Given the description of an element on the screen output the (x, y) to click on. 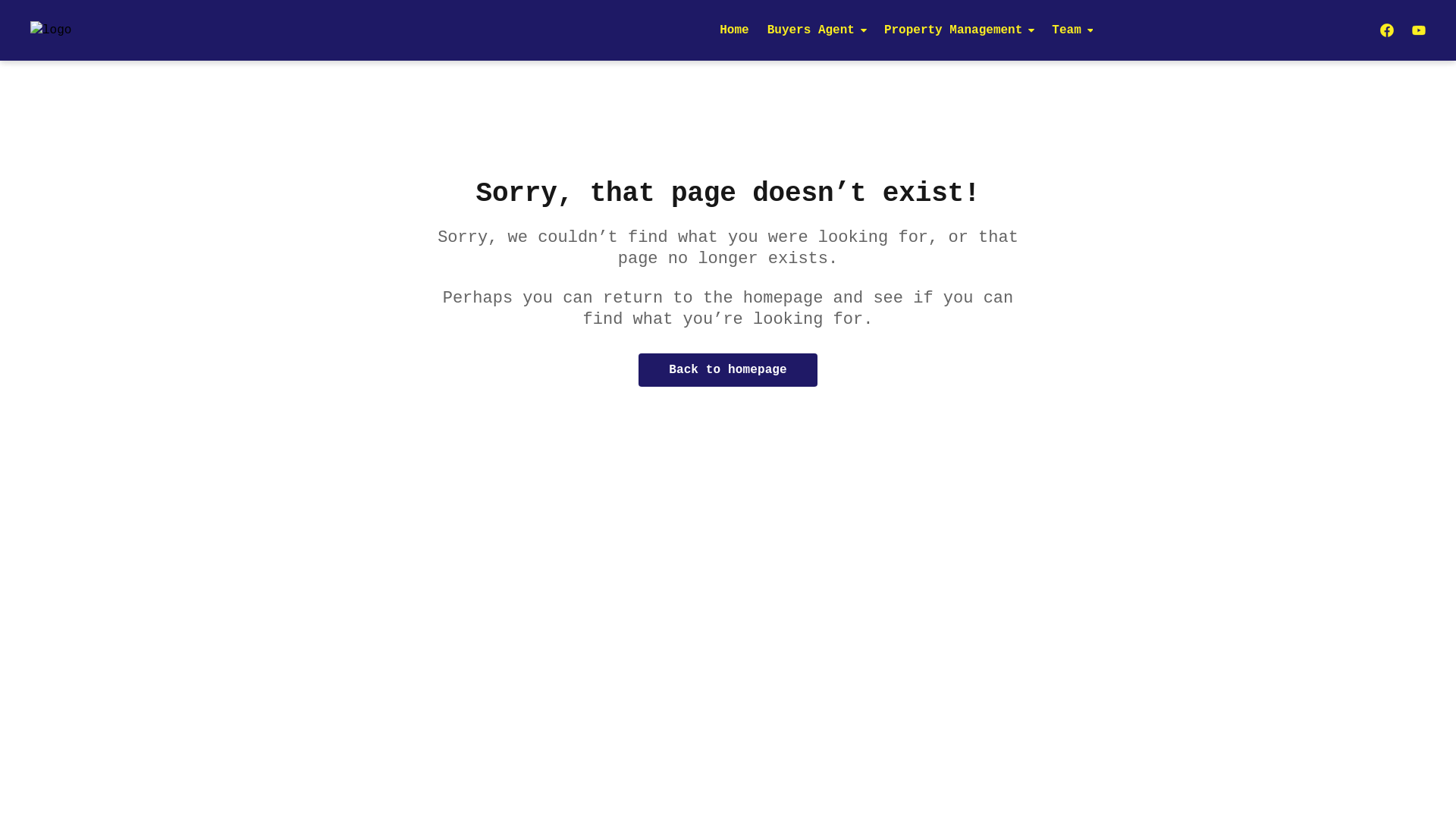
Home Element type: text (733, 30)
Back to homepage Element type: text (727, 369)
Back to homepage Element type: text (727, 369)
